Given the description of an element on the screen output the (x, y) to click on. 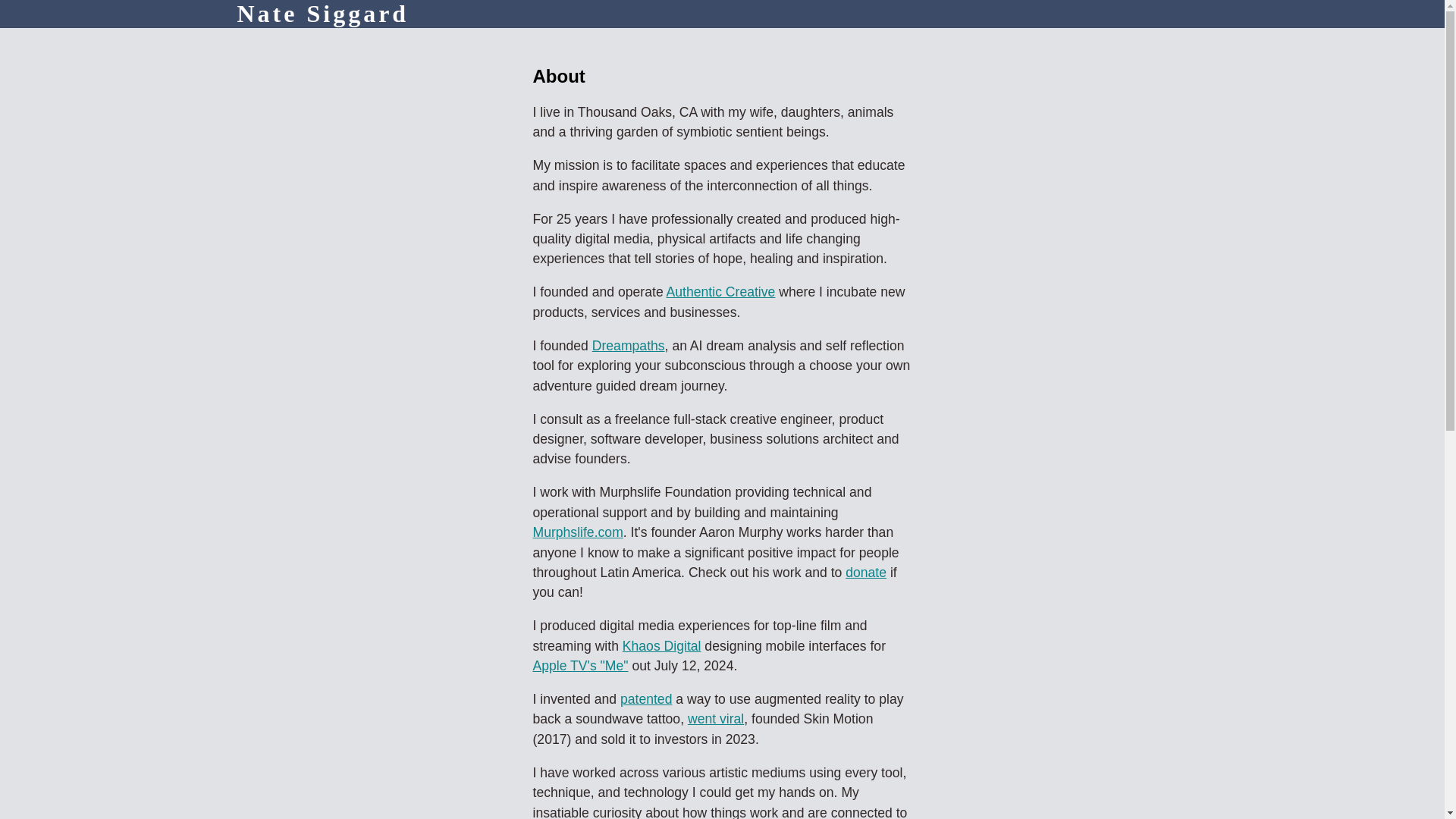
Khaos Digital (662, 645)
Murphslife.com (577, 531)
Dreampaths (628, 345)
Nate Siggard (322, 13)
went viral (715, 718)
Authentic Creative (721, 291)
donate (865, 572)
Apple TV's "Me" (579, 665)
patented (646, 698)
